Given the description of an element on the screen output the (x, y) to click on. 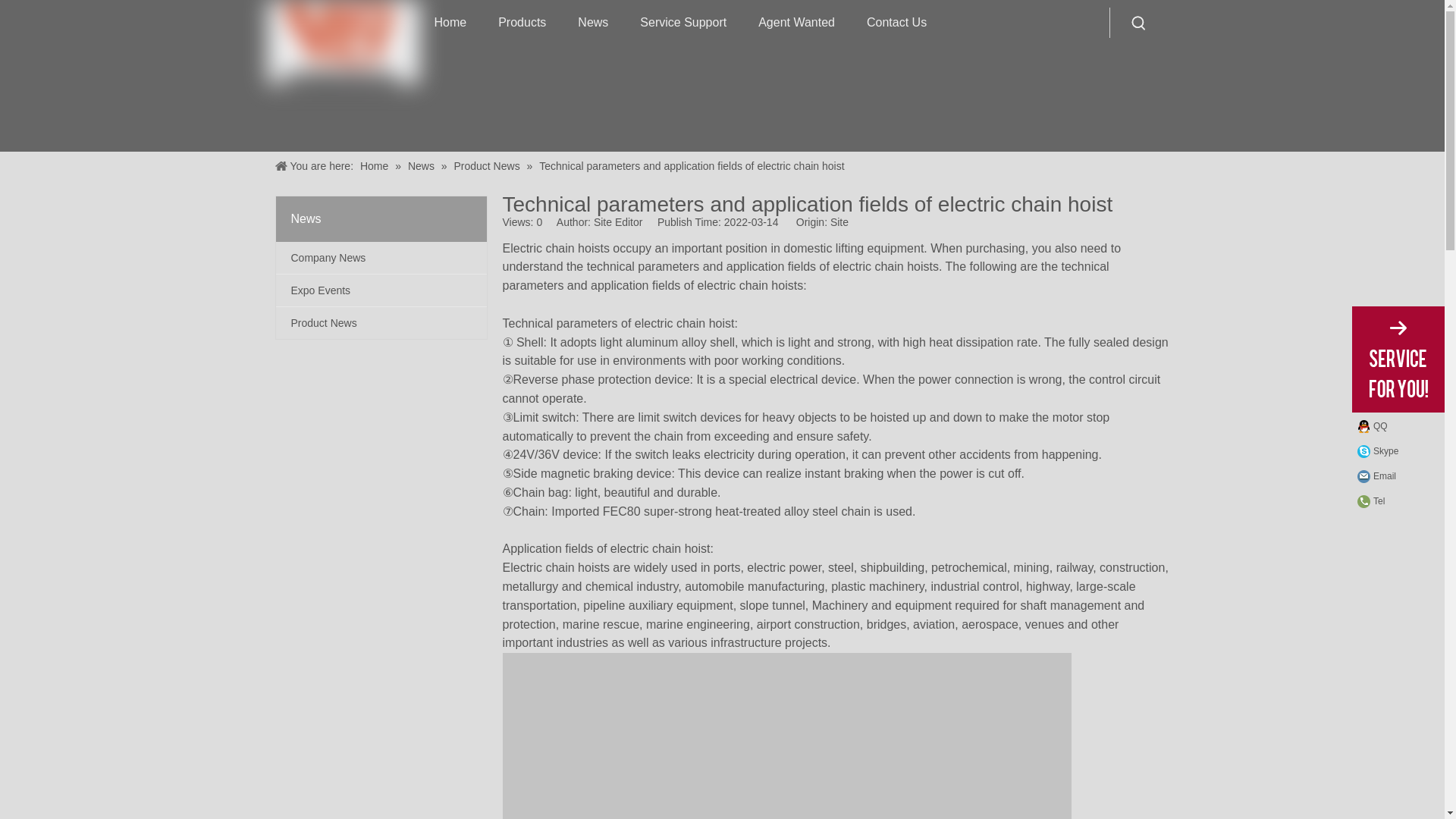
Expo Events (381, 290)
Home (450, 22)
Product News (381, 323)
Products (521, 22)
Company News (381, 257)
